Given the description of an element on the screen output the (x, y) to click on. 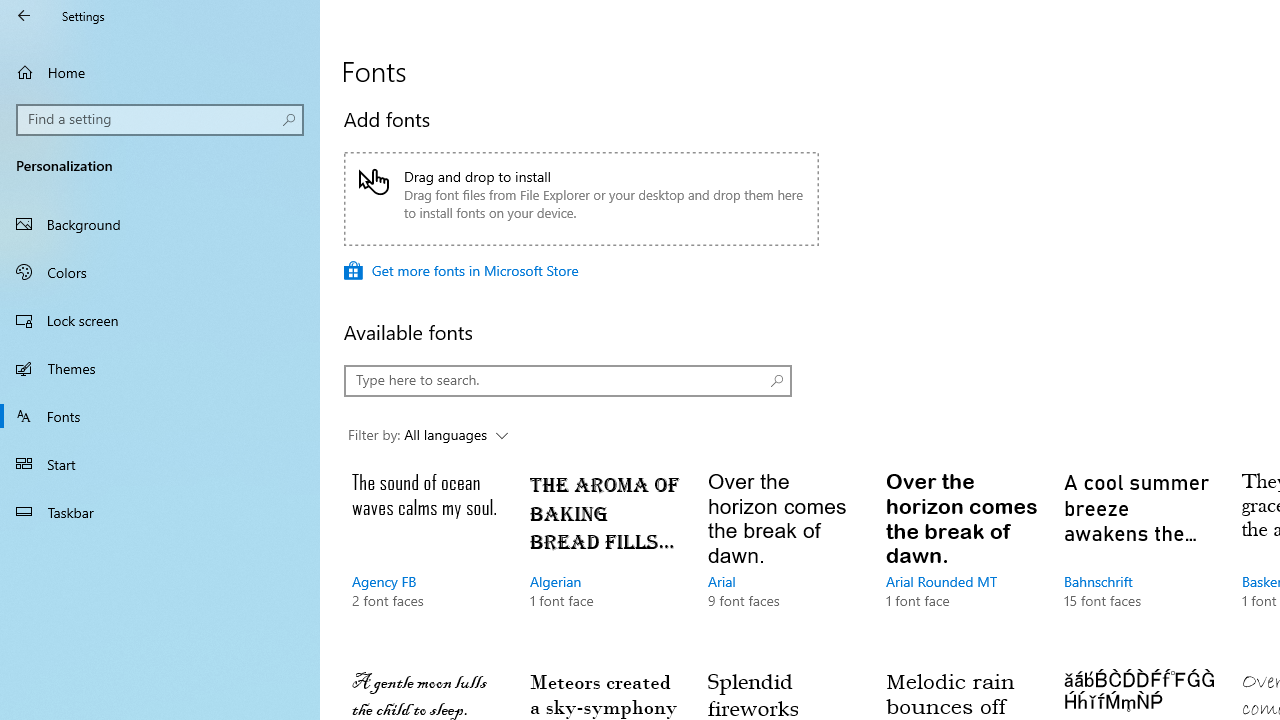
Lock screen (160, 319)
Background (160, 223)
Arial Rounded MT, 1 font face (961, 560)
Algerian, 1 font face (604, 560)
Fonts (160, 415)
Arial, 9 font faces (783, 560)
Taskbar (160, 511)
Back (24, 15)
Agency FB, 2 font faces (426, 560)
Get more fonts in Microsoft Store (461, 270)
Home (160, 71)
Themes (160, 367)
Colors (160, 271)
Bahnschrift, 15 font faces (1138, 560)
